Given the description of an element on the screen output the (x, y) to click on. 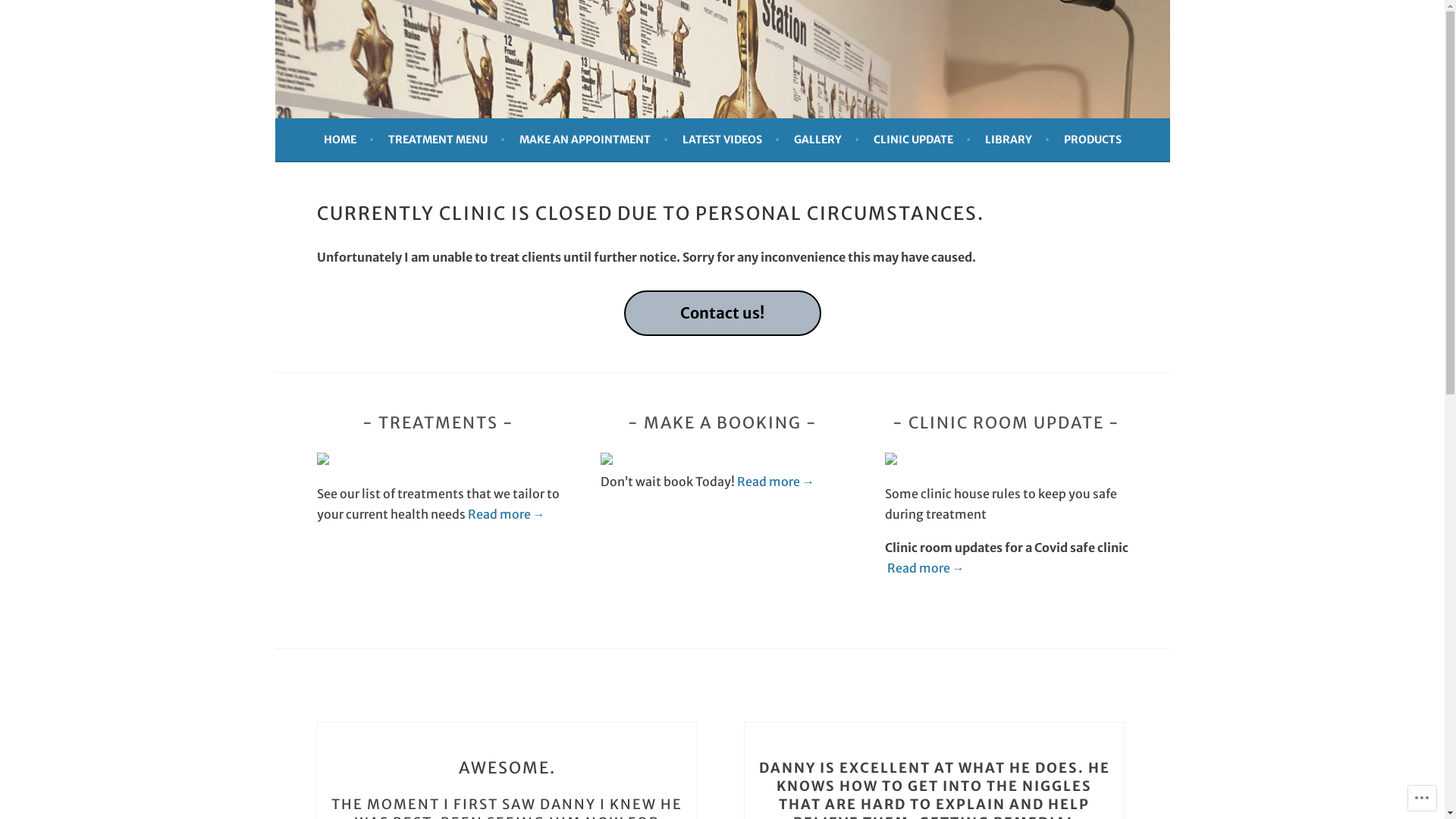
MAKE AN APPOINTMENT Element type: text (592, 139)
PRODUCTS Element type: text (1091, 139)
GALLERY Element type: text (825, 139)
MUSCLEZE WEBSITE Element type: text (459, 90)
TREATMENT MENU Element type: text (446, 139)
LATEST VIDEOS Element type: text (730, 139)
Contact us! Element type: text (721, 313)
HOME Element type: text (348, 139)
LIBRARY Element type: text (1016, 139)
CLINIC UPDATE Element type: text (921, 139)
